Given the description of an element on the screen output the (x, y) to click on. 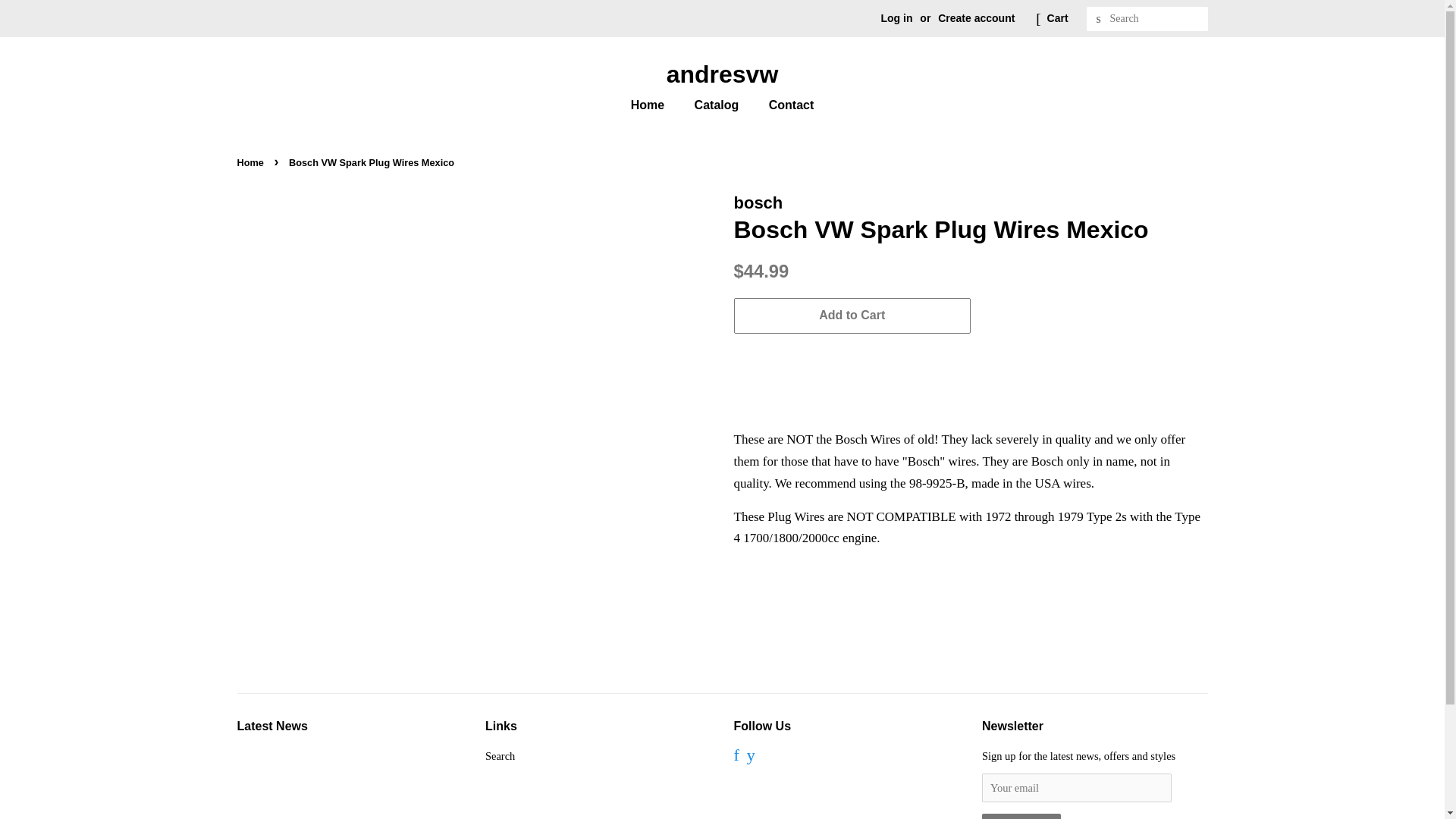
Search (1097, 18)
Log in (896, 18)
Create account (975, 18)
Cart (1057, 18)
Home (654, 104)
Contact (785, 104)
Catalog (718, 104)
Subscribe (1021, 816)
Home (250, 162)
Subscribe (1021, 816)
Add to Cart (852, 315)
andresvw (721, 73)
Back to the frontpage (250, 162)
Search (499, 756)
Latest News (271, 725)
